Given the description of an element on the screen output the (x, y) to click on. 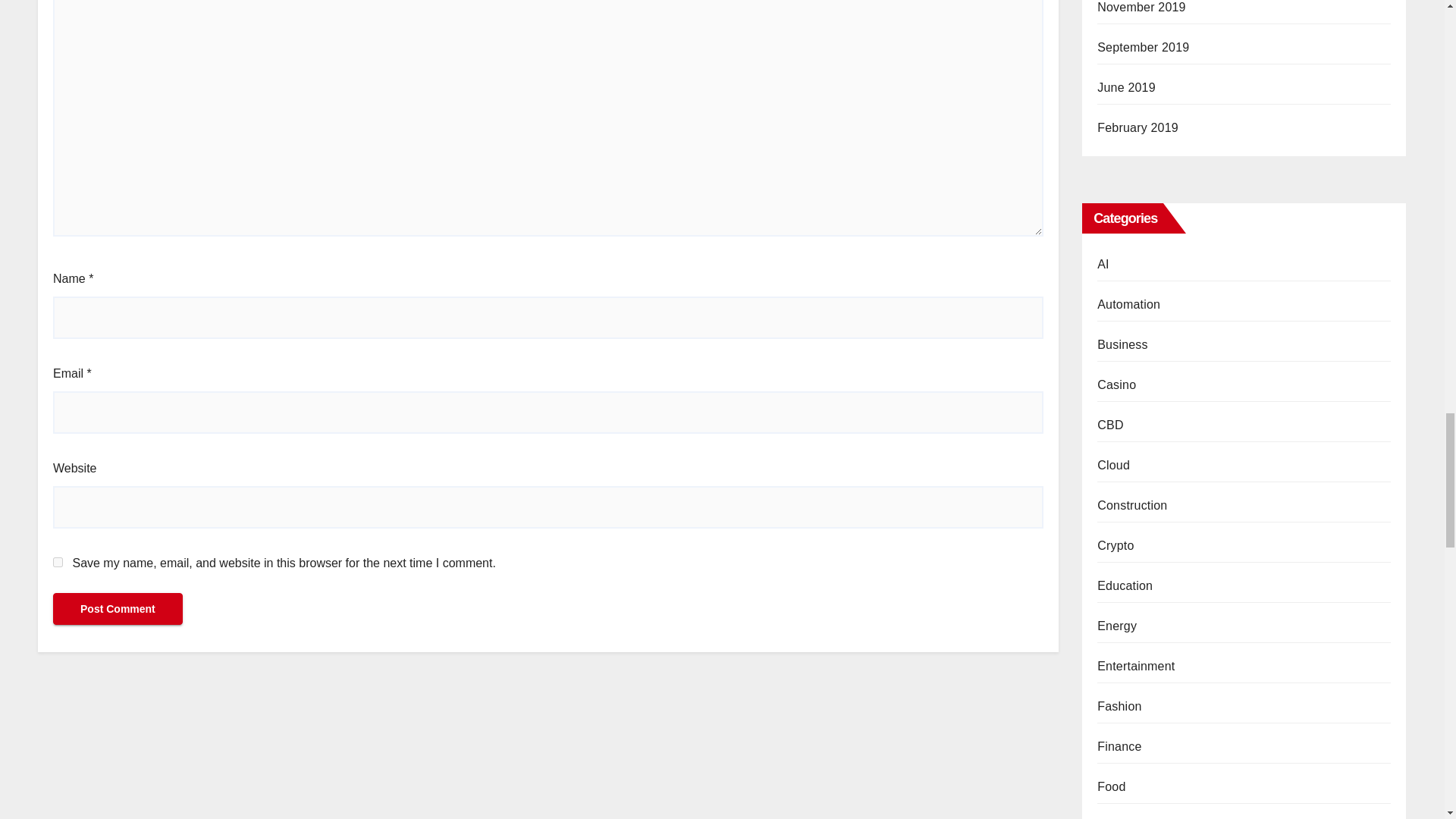
yes (57, 562)
Post Comment (117, 608)
